Given the description of an element on the screen output the (x, y) to click on. 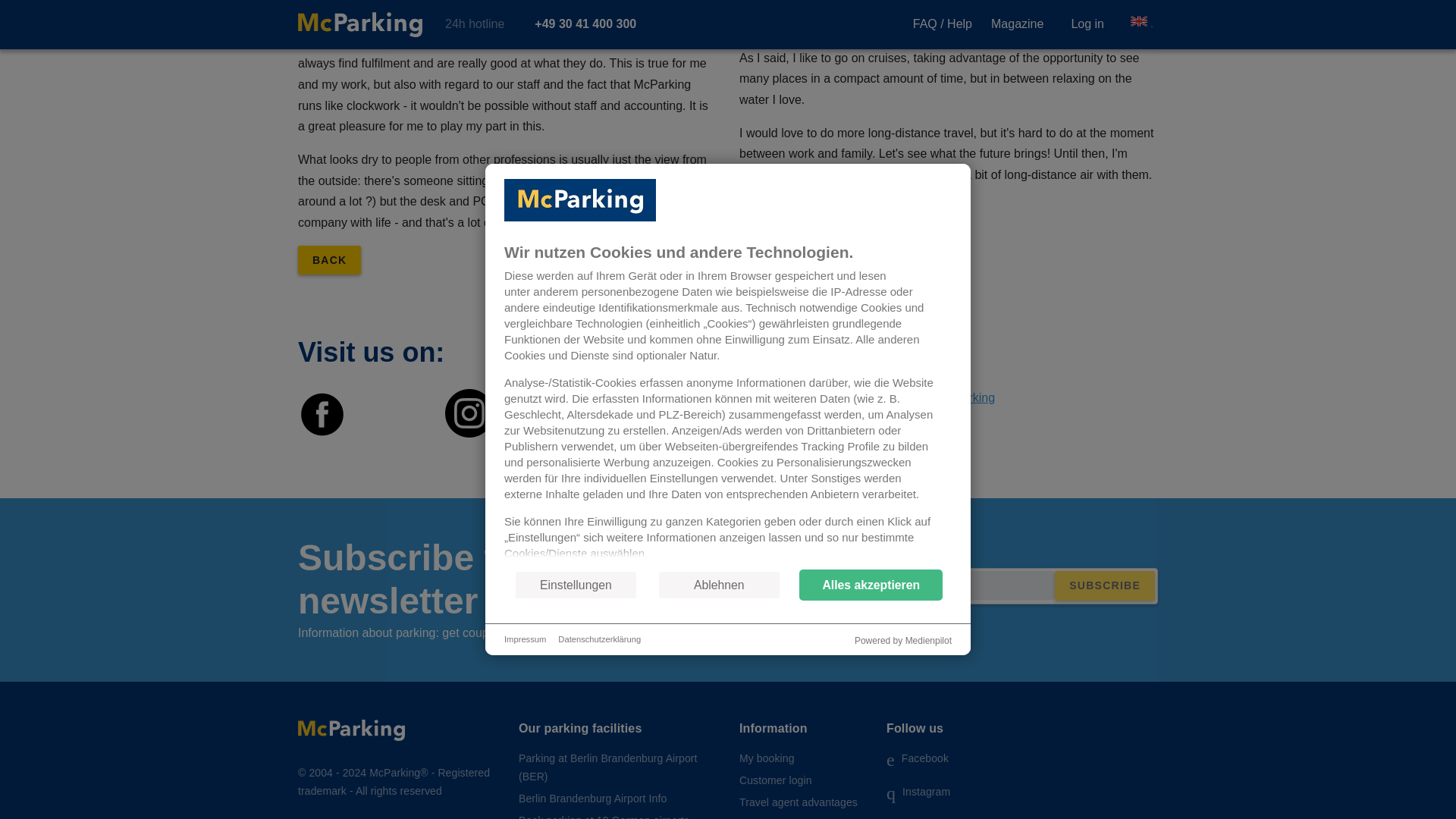
SUBSCRIBE (1104, 585)
